Given the description of an element on the screen output the (x, y) to click on. 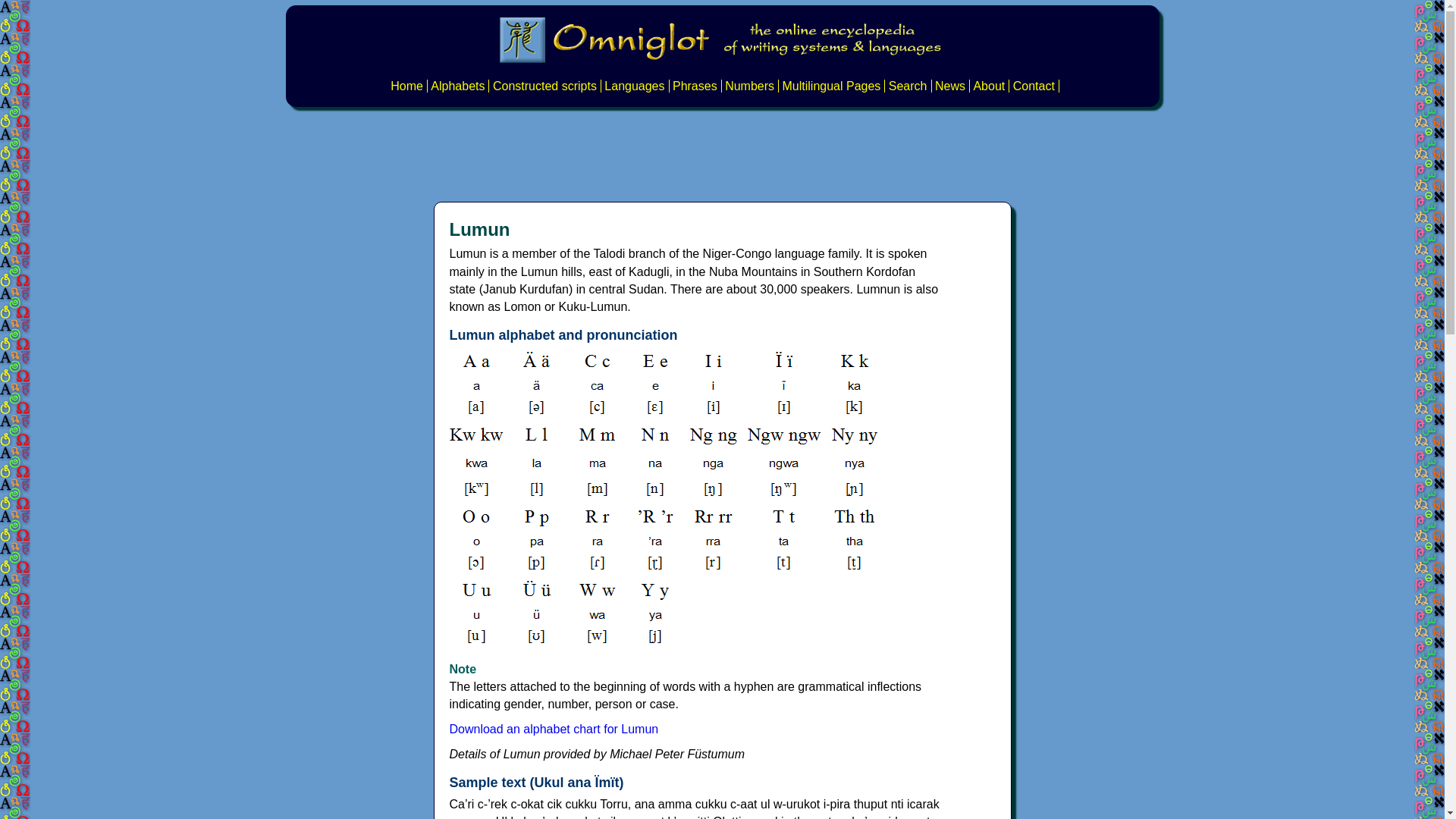
Multilingual Pages (830, 85)
Phrases (694, 85)
Home (406, 85)
Languages (633, 85)
Numbers (749, 85)
Contact (1033, 85)
About (988, 85)
Constructed scripts (544, 85)
Alphabets (457, 85)
Download an alphabet chart for Lumun (553, 728)
